Given the description of an element on the screen output the (x, y) to click on. 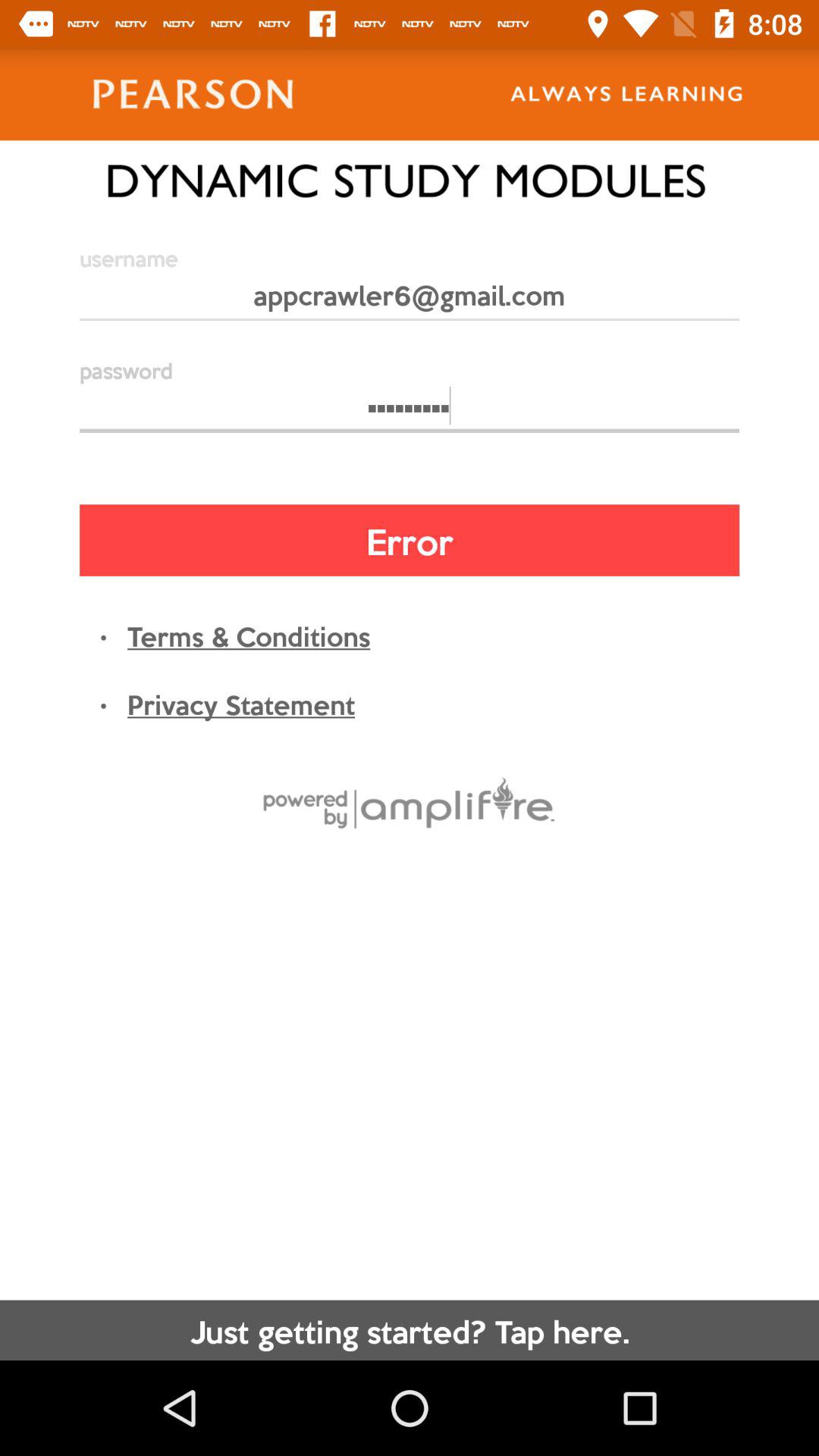
press the item below appcrawler6@gmail.com icon (409, 413)
